Given the description of an element on the screen output the (x, y) to click on. 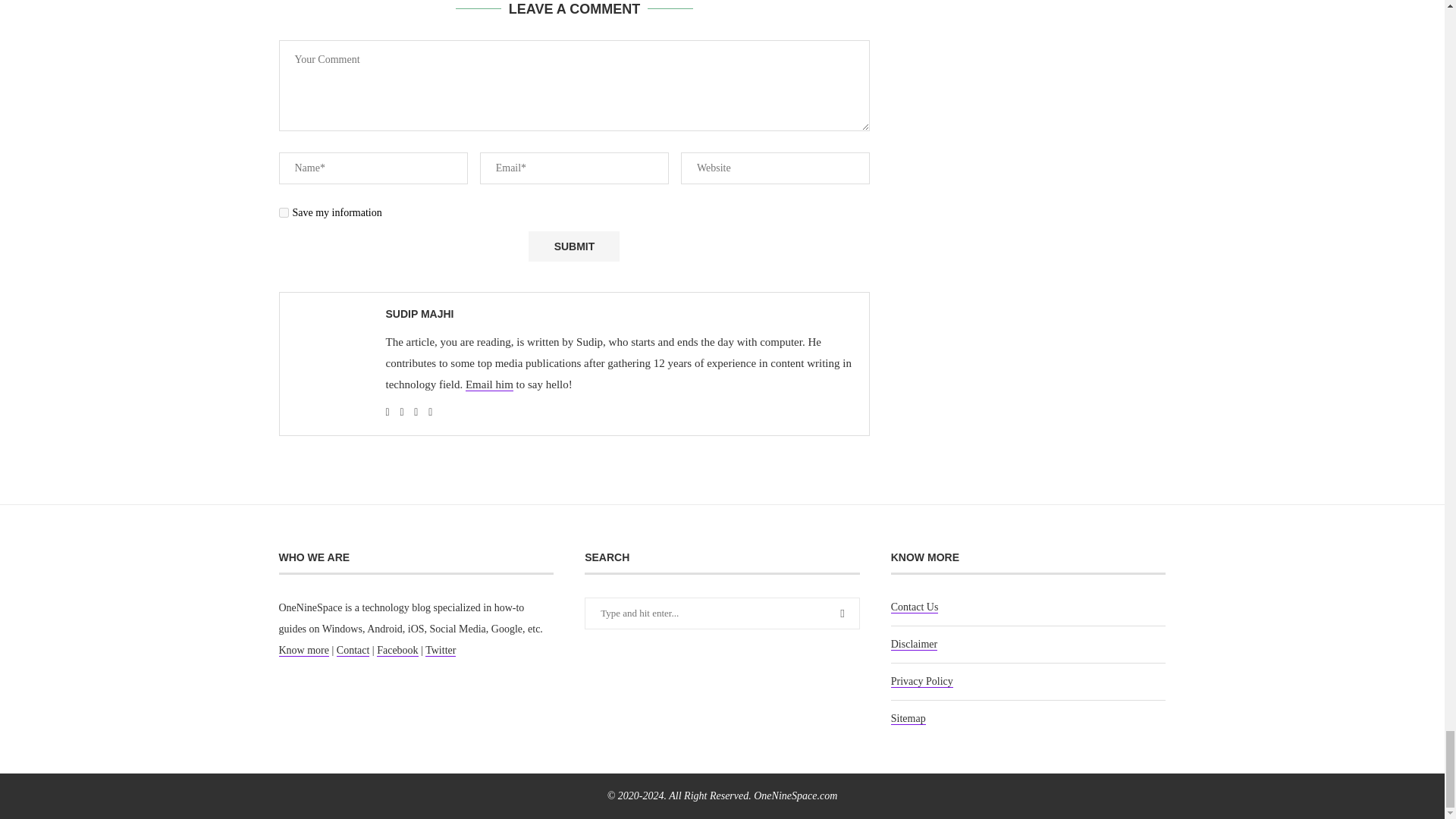
Contact (352, 650)
Submit (574, 245)
Email him (489, 384)
Facebook (397, 650)
yes (283, 212)
Know more (304, 650)
Author Sudip Majhi (418, 313)
Submit (574, 245)
SUDIP MAJHI (418, 313)
